Given the description of an element on the screen output the (x, y) to click on. 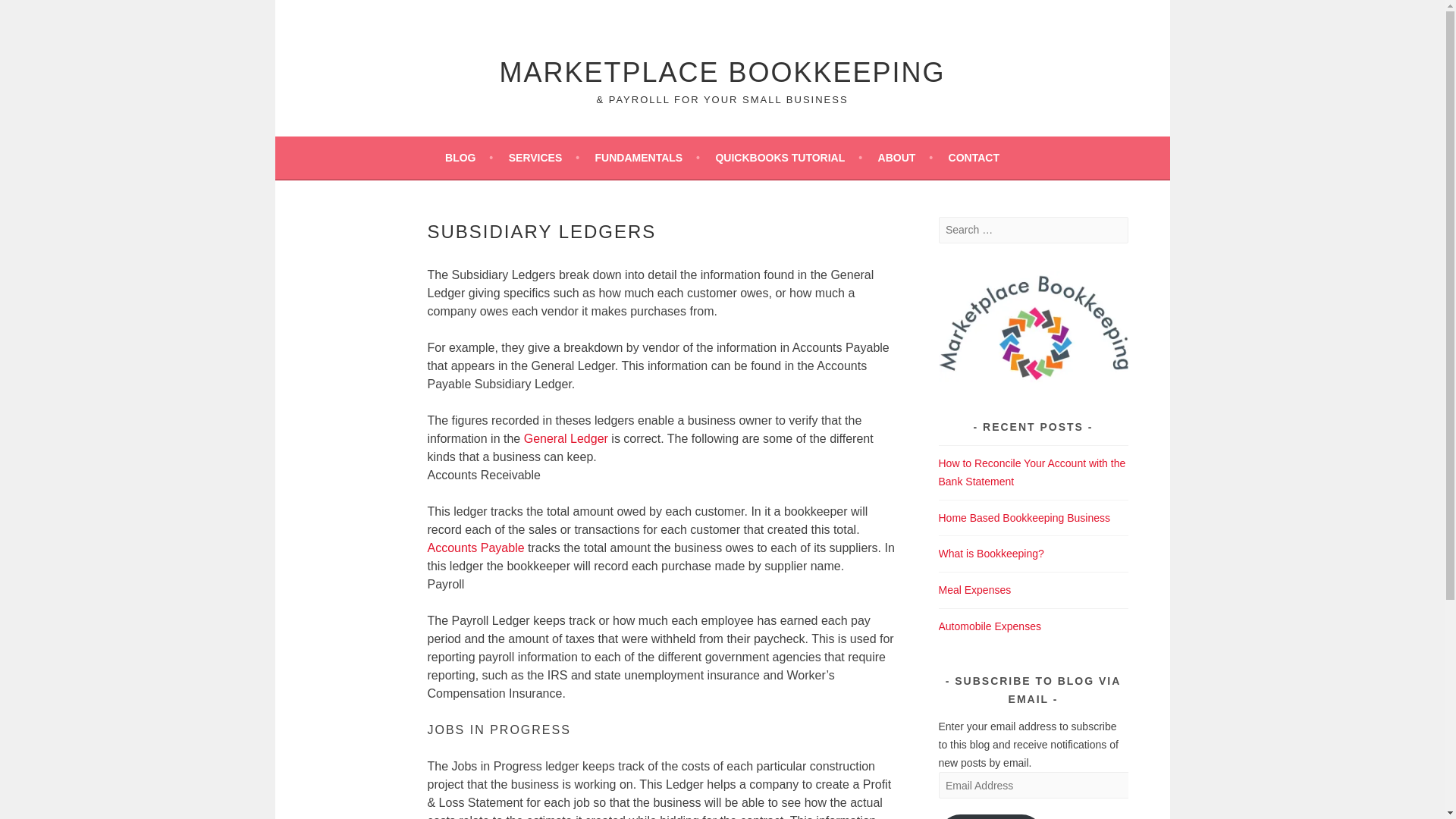
SUBSCRIBE (991, 816)
What is Bookkeeping? (991, 553)
BLOG (469, 157)
CONTACT (973, 157)
QUICKBOOKS TUTORIAL (787, 157)
ABOUT (905, 157)
Automobile Expenses (990, 625)
SERVICES (543, 157)
Search (30, 13)
Home Based Bookkeeping Business (1024, 517)
